Given the description of an element on the screen output the (x, y) to click on. 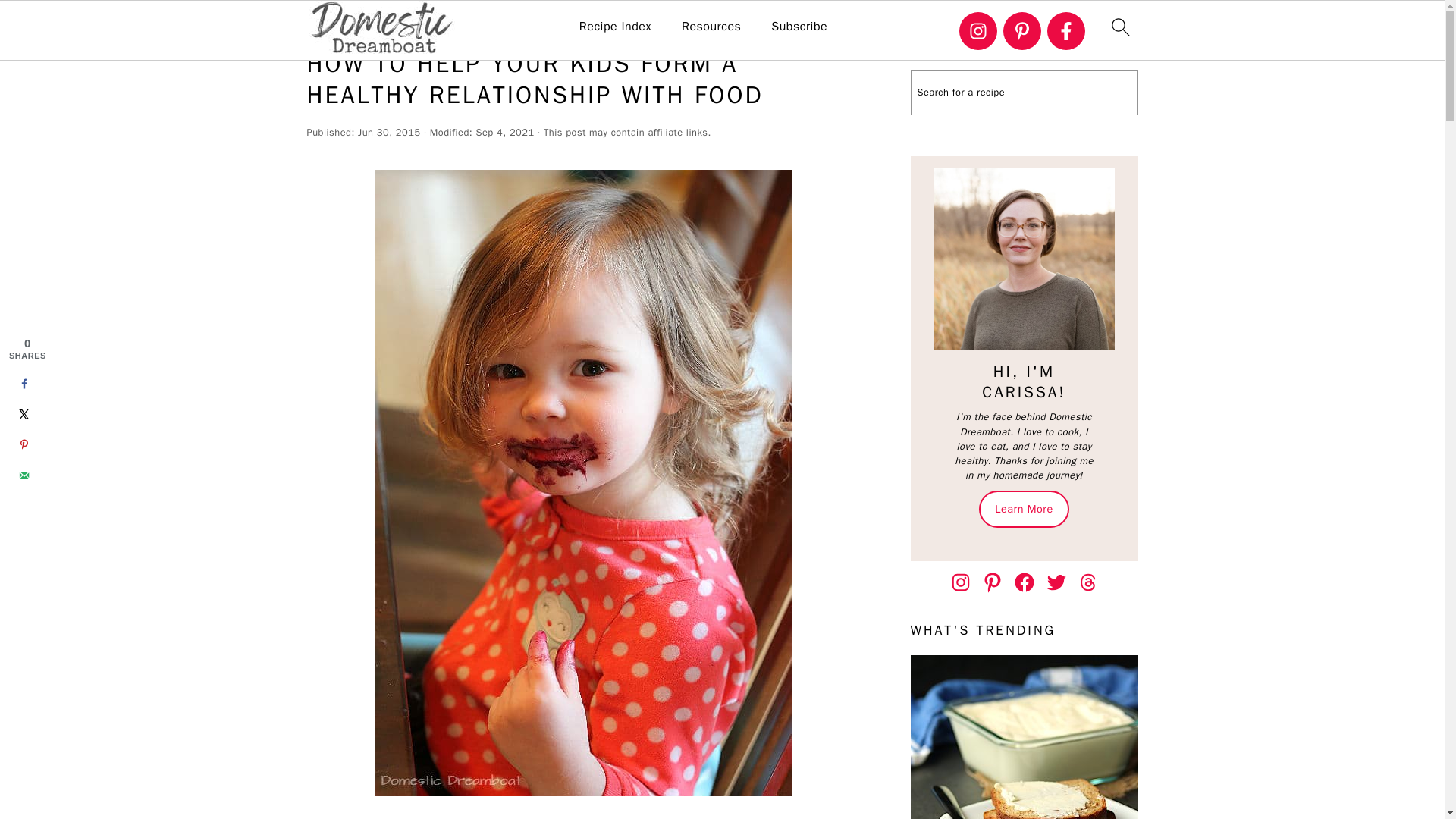
Living Life (462, 21)
search icon (1119, 26)
Save to Pinterest (23, 444)
Resources (711, 26)
Share on Facebook (23, 383)
Recipe Index (614, 26)
Send over email (23, 474)
Subscribe (799, 26)
Share on X (23, 413)
Modern Sidebar (1024, 258)
Home (403, 21)
How to Make Spreadable Butter (1023, 737)
